Given the description of an element on the screen output the (x, y) to click on. 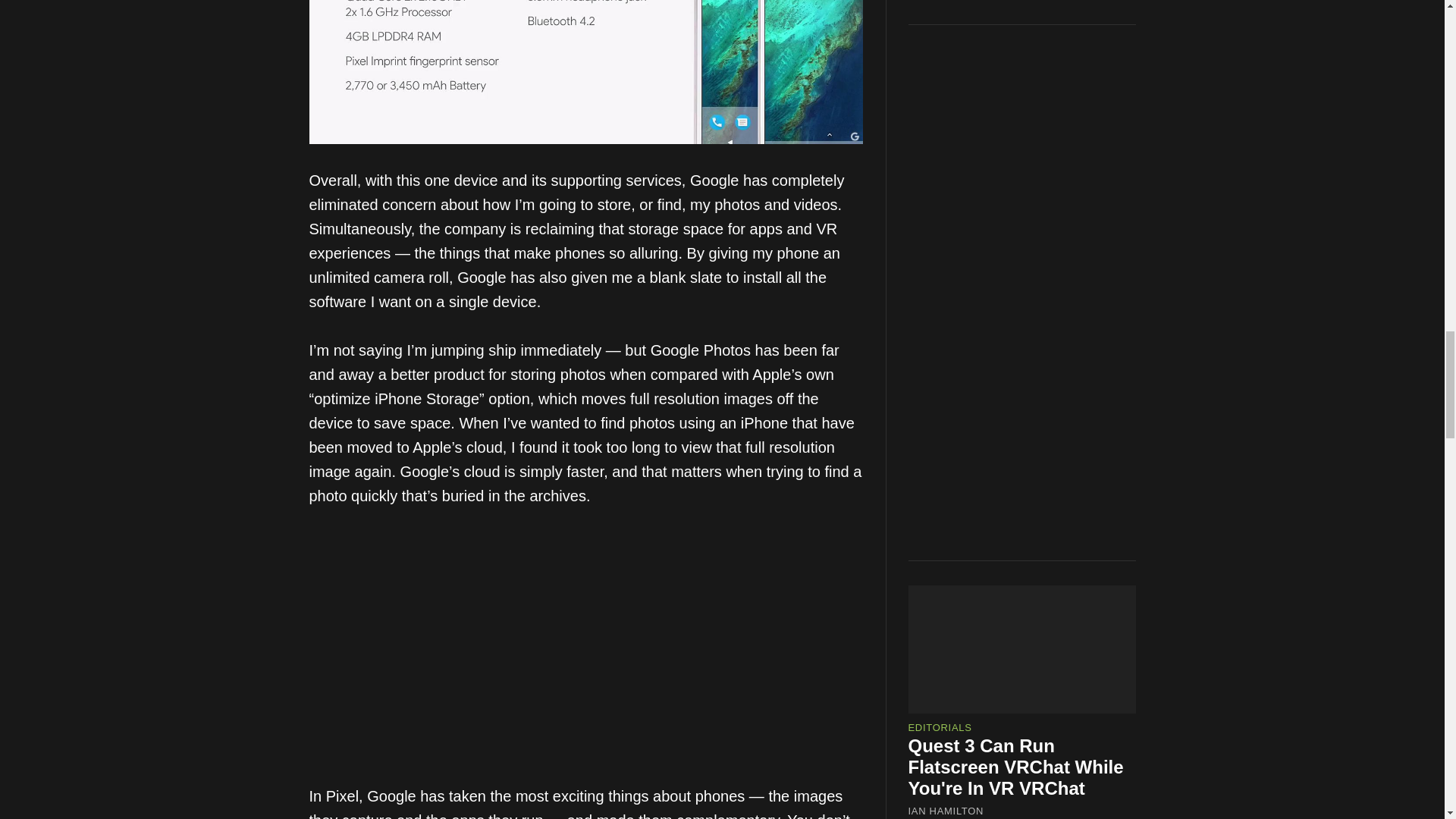
DAVID HEANEY (947, 197)
EDITORIALS (940, 92)
